Given the description of an element on the screen output the (x, y) to click on. 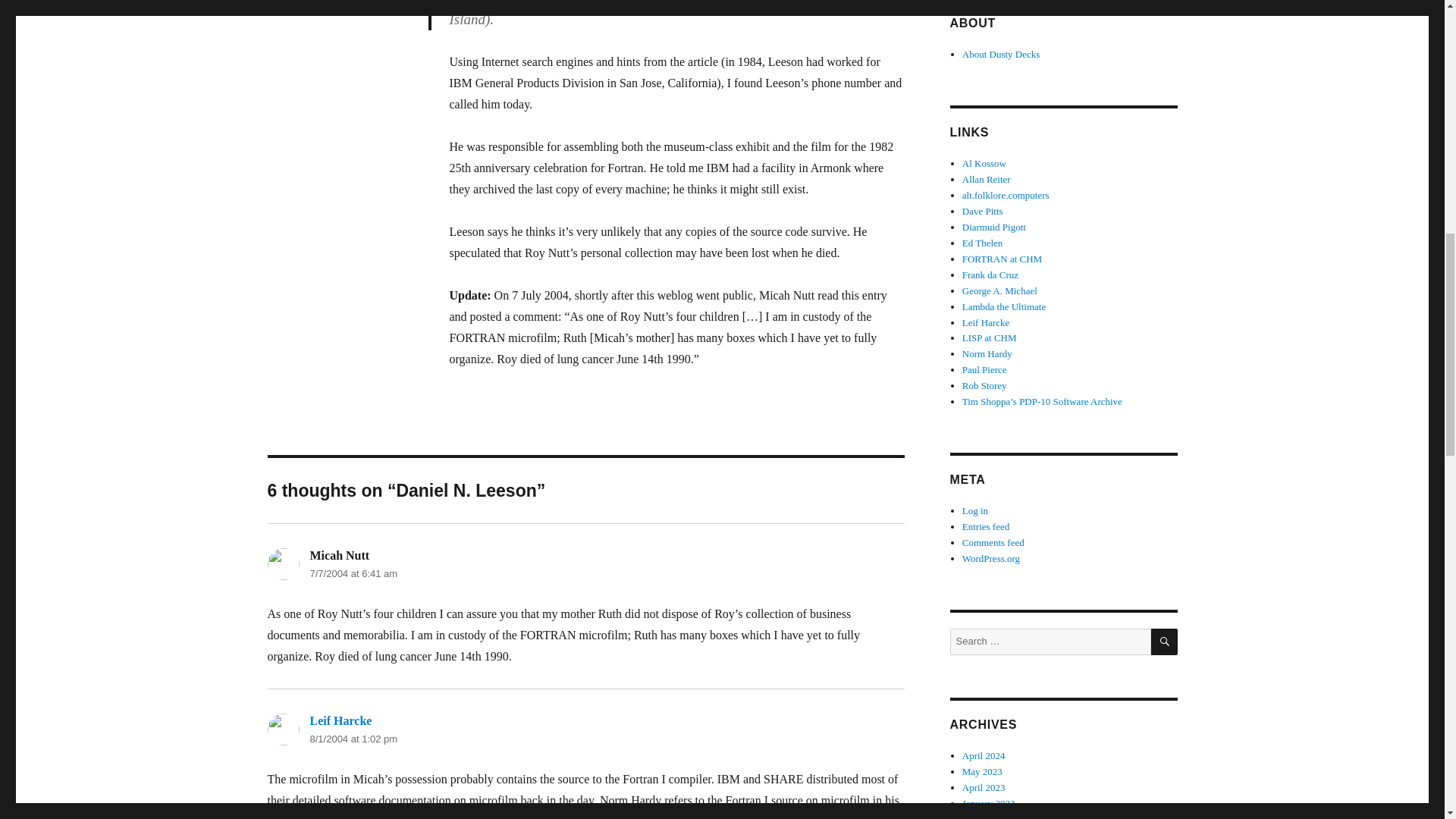
FORTRAN at CHM (1002, 258)
Allan Reiter (986, 179)
Fortran at Livermore (347, 816)
Ed Thelen (982, 242)
alt.folklore.computers (1005, 194)
Al Kossow (984, 163)
Dave Pitts (982, 211)
About Dusty Decks (1001, 53)
Online Historical Encyclopaedia of Programming Languages (994, 226)
Leif Harcke (339, 720)
Diarmuid Pigott (994, 226)
